Given the description of an element on the screen output the (x, y) to click on. 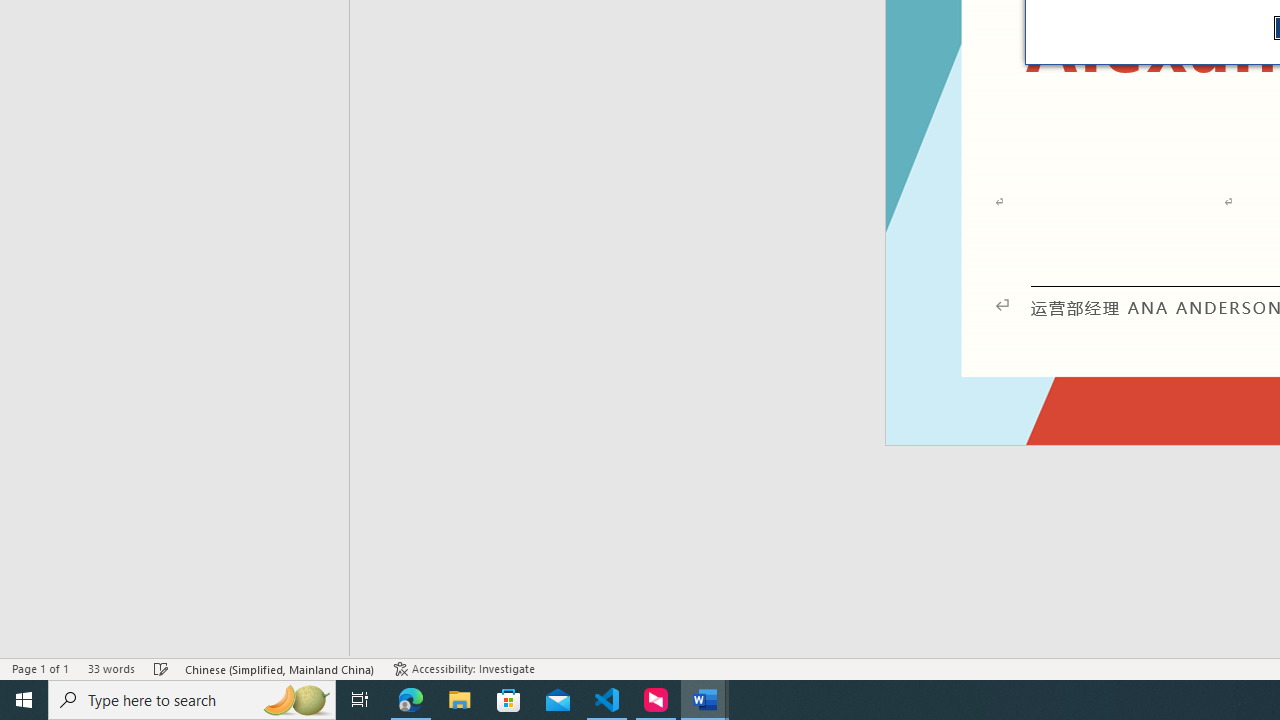
Word - 2 running windows (704, 699)
Page Number Page 1 of 1 (39, 668)
File Explorer (460, 699)
